Given the description of an element on the screen output the (x, y) to click on. 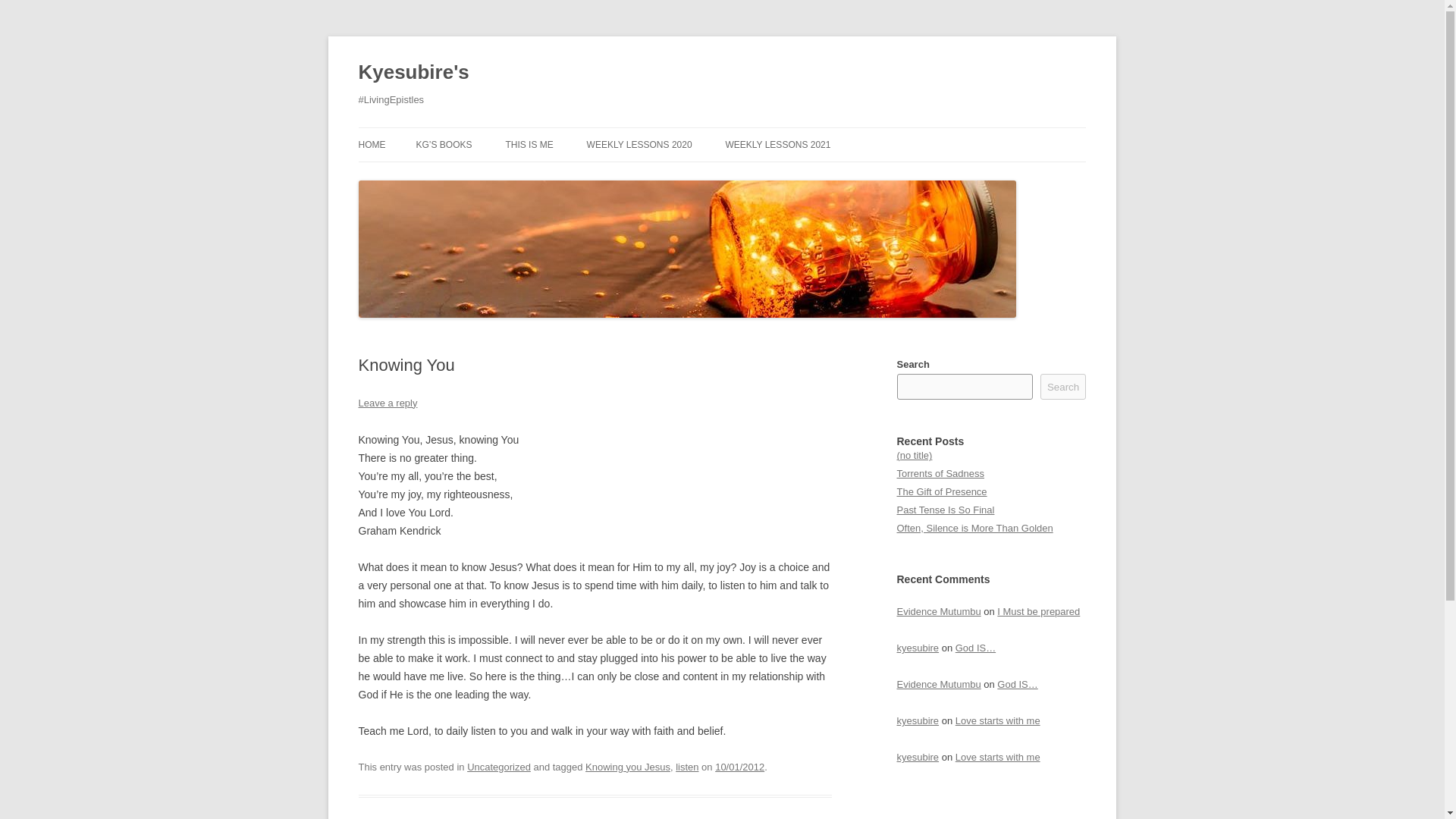
WEEKLY LESSONS 2020 (639, 144)
Evidence Mutumbu (937, 611)
kyesubire (917, 647)
Knowing you Jesus (627, 767)
Love starts with me (998, 720)
Evidence Mutumbu (937, 684)
kyesubire (917, 720)
listen (686, 767)
Often, Silence is More Than Golden (974, 527)
THIS IS ME (529, 144)
Search (1063, 386)
Kyesubire's (413, 72)
Leave a reply (387, 402)
kyesubire (917, 756)
Torrents of Sadness (940, 473)
